Given the description of an element on the screen output the (x, y) to click on. 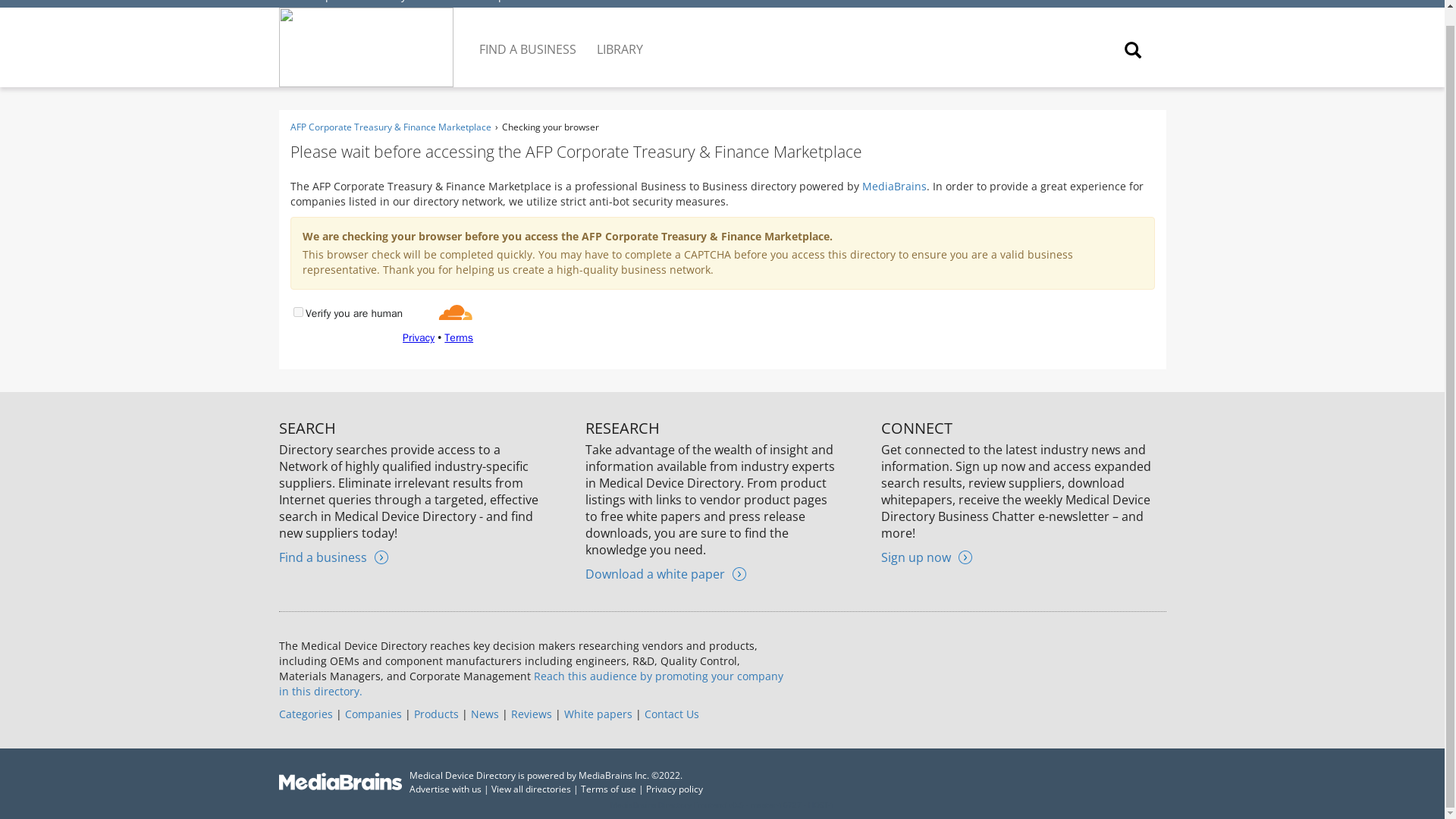
Download a white paper (665, 573)
Privacy policy (674, 788)
Advertise with us (445, 788)
Products (435, 713)
Reviews (531, 713)
Categories (306, 713)
Terms of use (608, 788)
View all directories (531, 788)
White papers (597, 713)
Sign up now (926, 556)
MediaBrains (893, 186)
LIBRARY (620, 37)
News (483, 713)
Contact Us (671, 713)
